Given the description of an element on the screen output the (x, y) to click on. 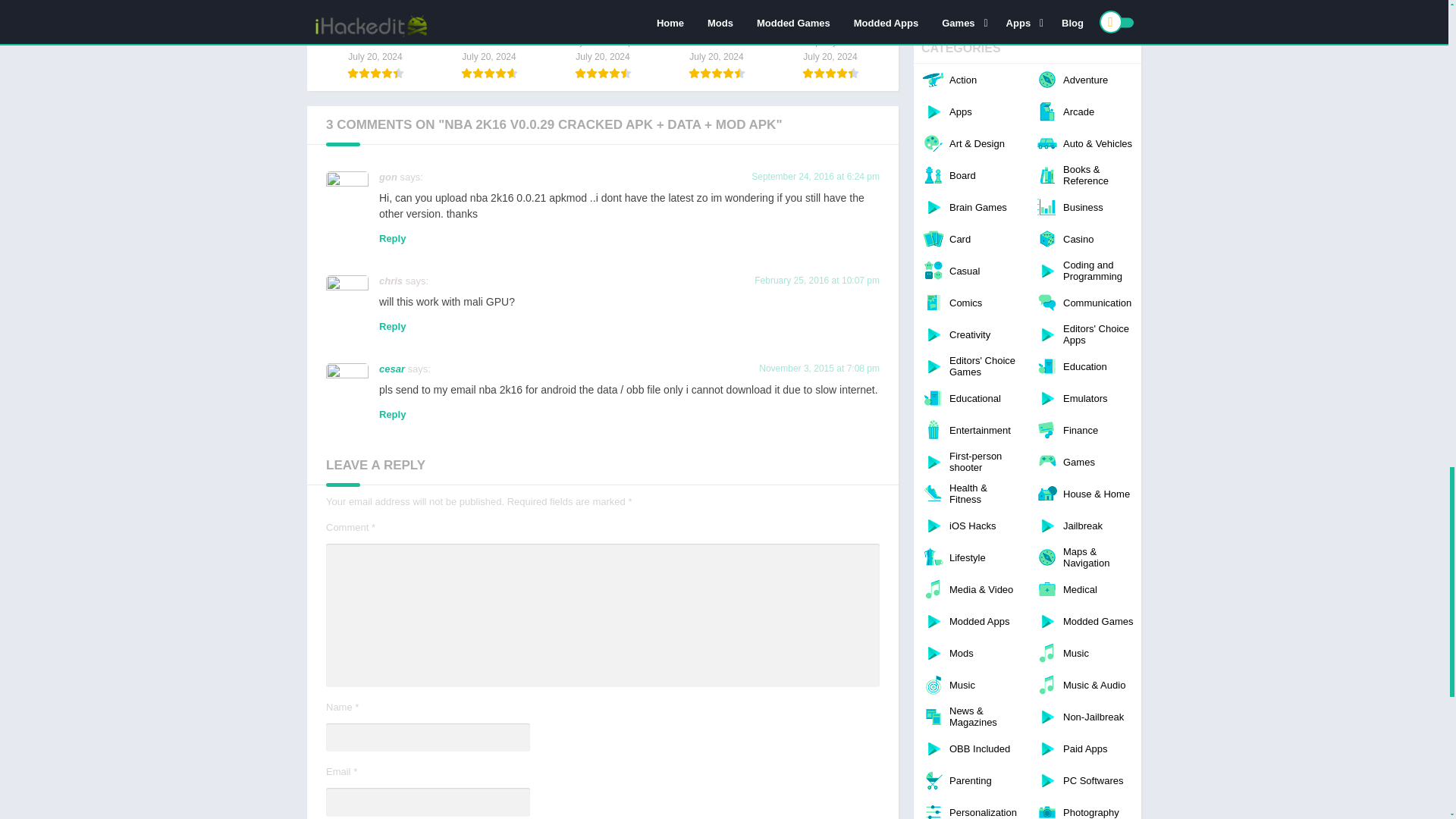
TuneIn Pro APK (375, 39)
